Given the description of an element on the screen output the (x, y) to click on. 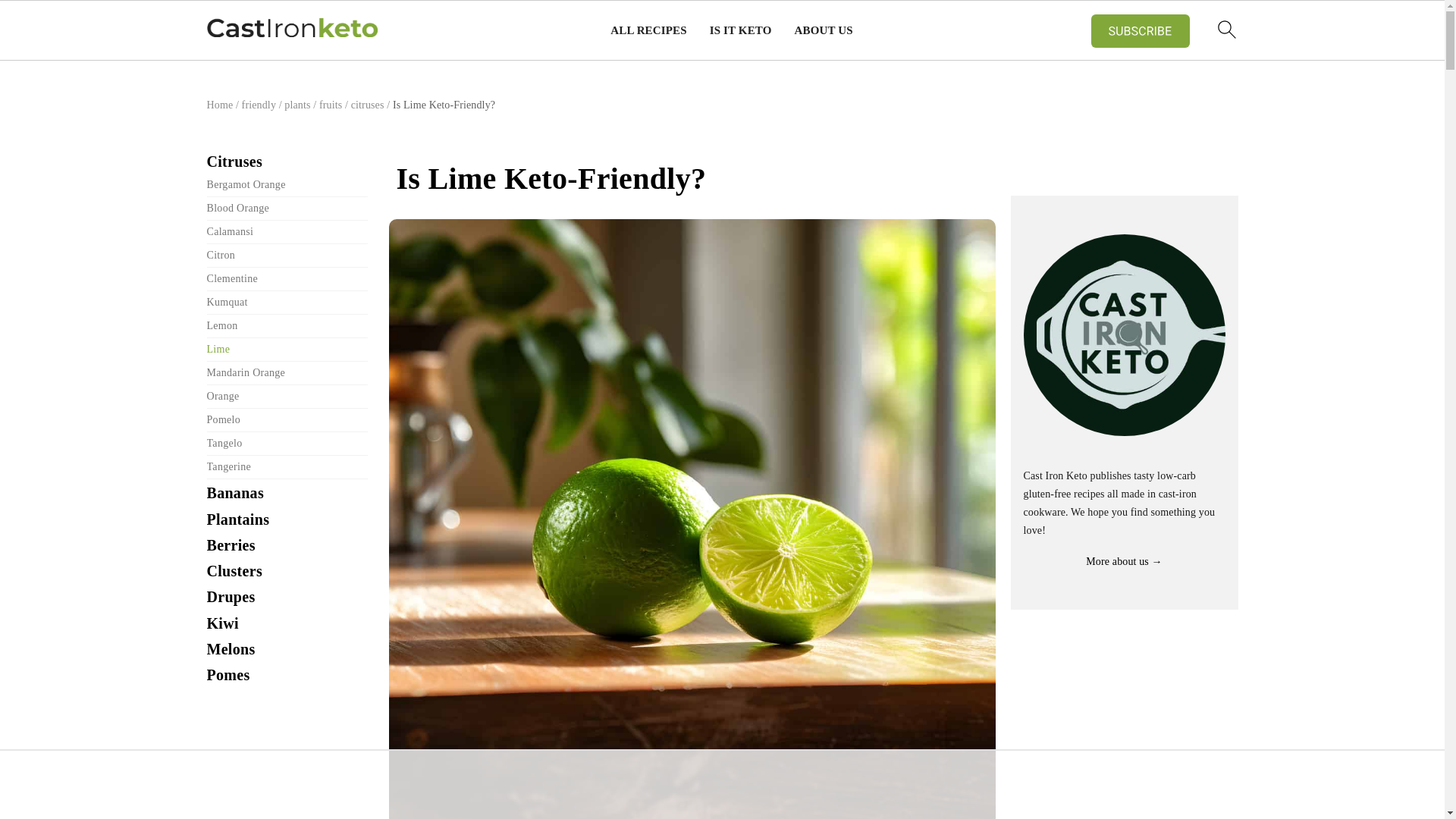
Bergamot Orange (245, 184)
Calamansi (229, 231)
Citron (220, 255)
IS IT KETO (740, 30)
ABOUT US (823, 30)
friendly (258, 104)
ALL RECIPES (647, 30)
Citruses (234, 161)
Blood Orange (237, 207)
fruits (330, 104)
